Given the description of an element on the screen output the (x, y) to click on. 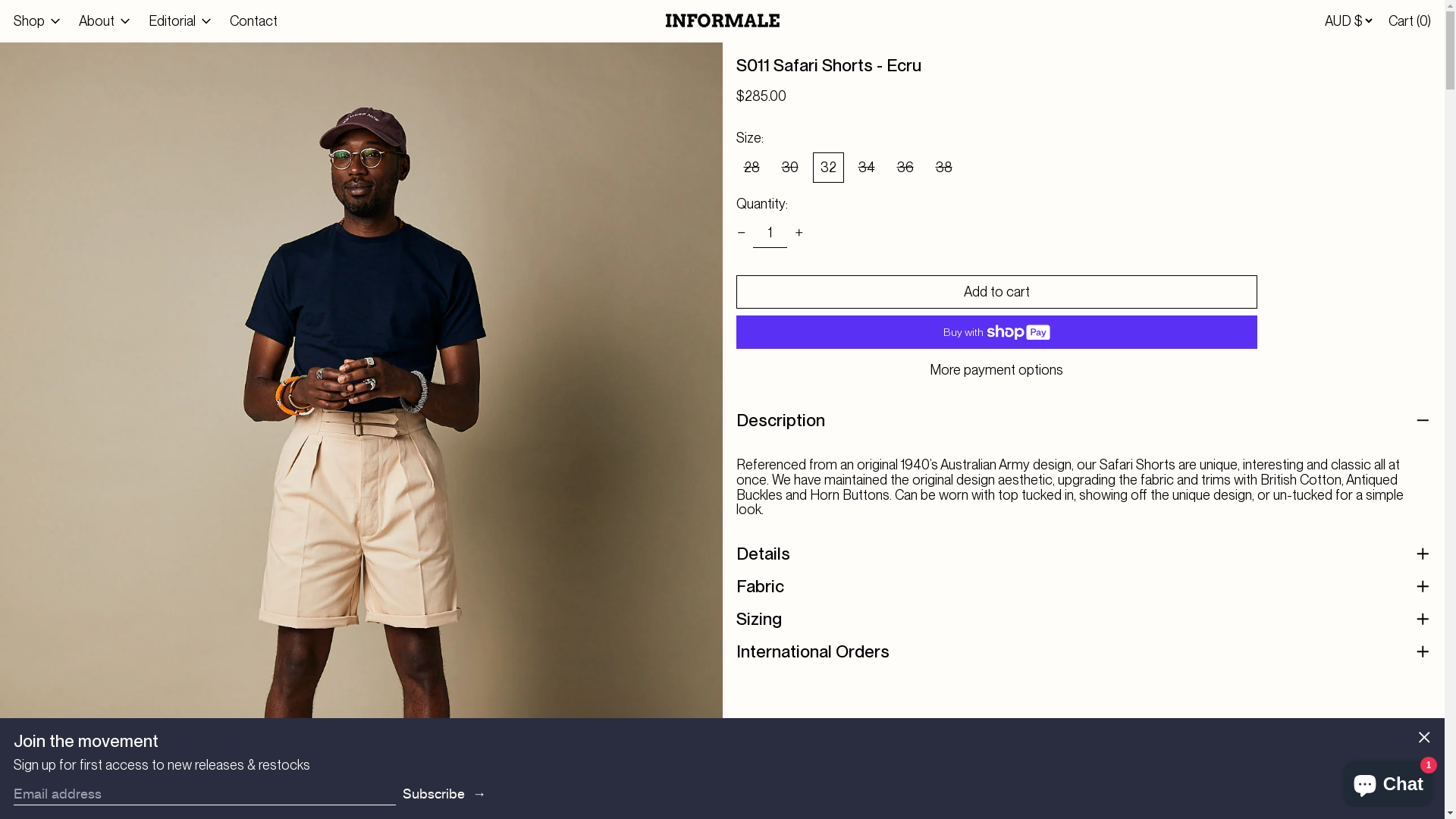
Close Element type: text (1423, 737)
More payment options Element type: text (995, 369)
Sizing Element type: text (1082, 618)
Shopify online store chat Element type: hover (1388, 780)
Fabric Element type: text (1082, 586)
Add to cart Element type: text (995, 291)
Description Element type: text (1082, 420)
Contact Element type: text (253, 20)
Cart (0) Element type: text (1409, 20)
Shop Element type: text (39, 20)
About Element type: text (106, 20)
Details Element type: text (1082, 553)
International Orders Element type: text (1082, 651)
Editorial Element type: text (182, 20)
